Given the description of an element on the screen output the (x, y) to click on. 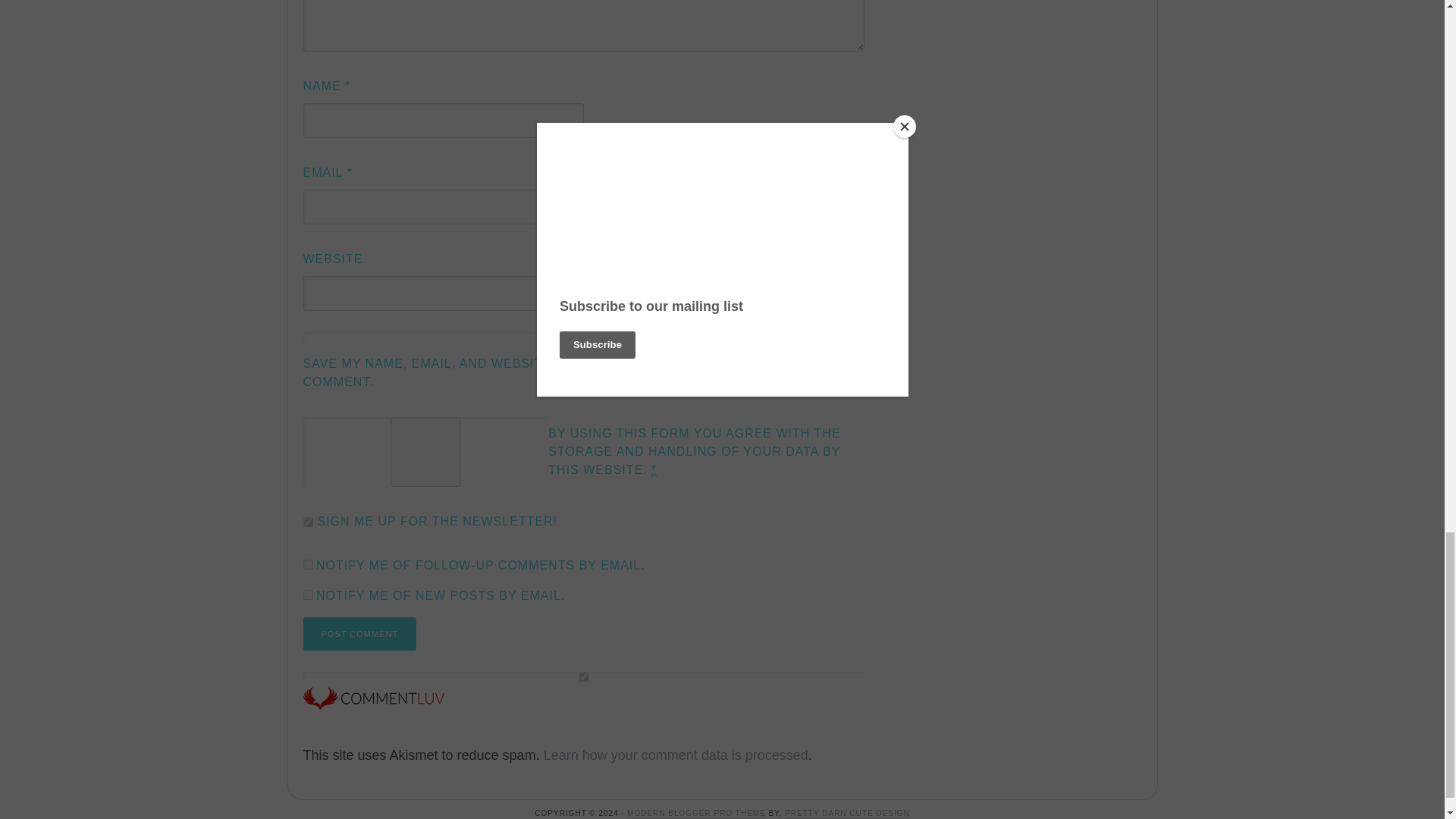
subscribe (307, 564)
Post Comment (359, 633)
1 (307, 521)
1 (425, 451)
yes (583, 337)
on (583, 676)
subscribe (307, 594)
